Given the description of an element on the screen output the (x, y) to click on. 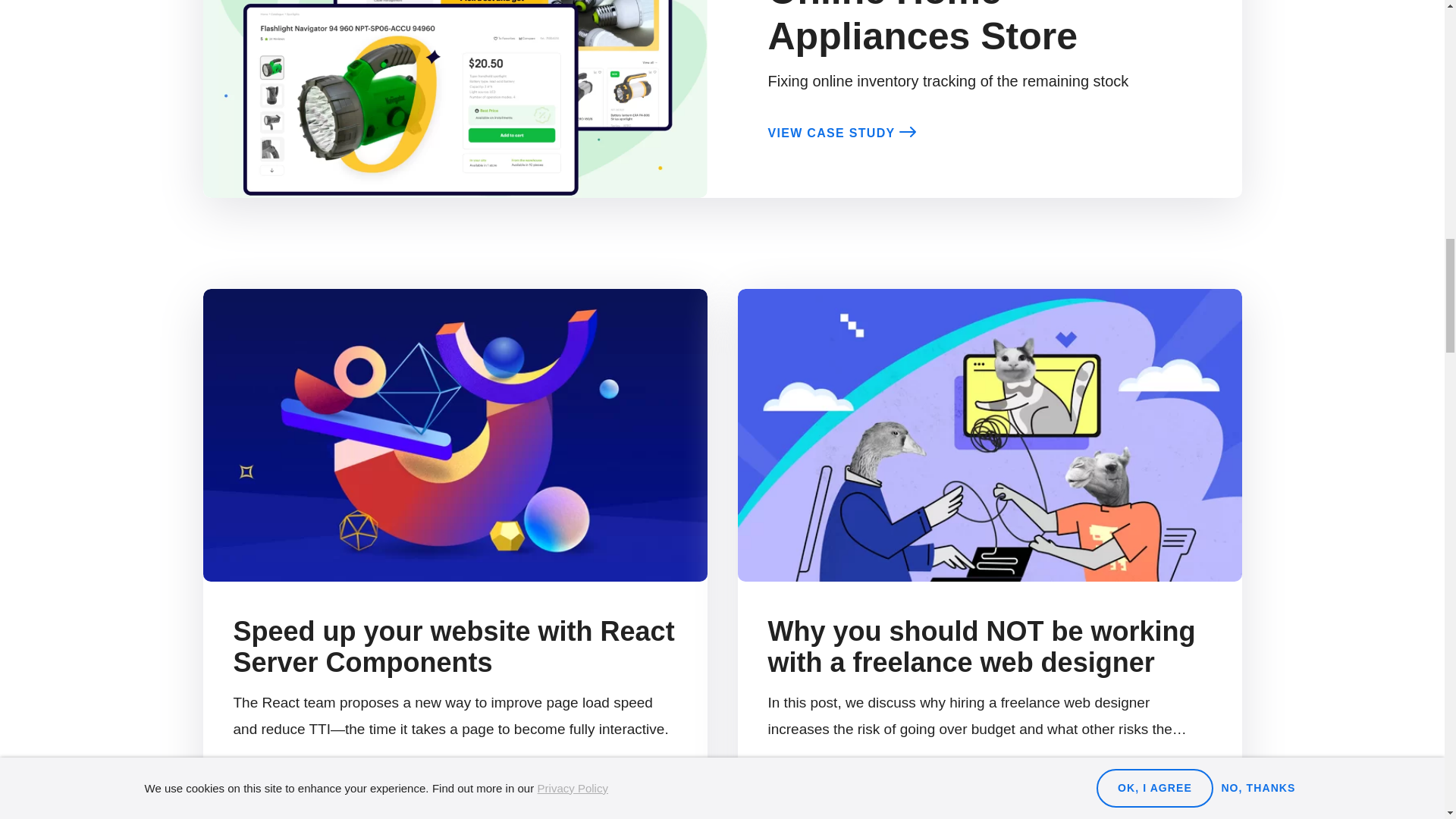
Why you should NOT be working with a freelance web designer (981, 646)
Speed up your website with React Server Components (453, 646)
Development (277, 782)
Design (791, 782)
VIEW CASE STUDY (841, 133)
Online Home Appliances Store (922, 28)
